Given the description of an element on the screen output the (x, y) to click on. 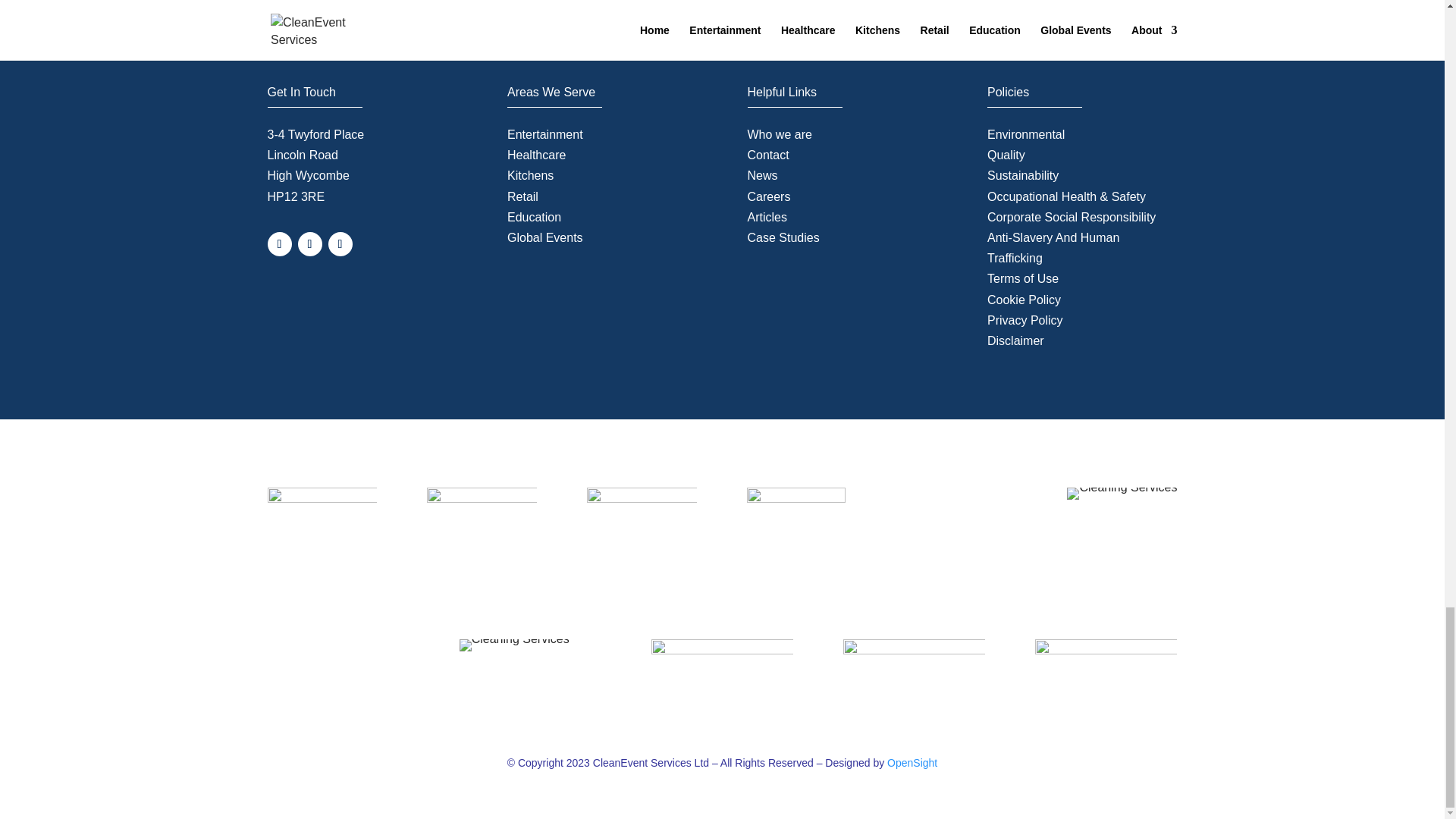
Sustainability School Membera (1121, 493)
BASIS (321, 502)
Quality (1006, 154)
Living wage employer (795, 519)
Retail (522, 196)
Environmental (1025, 133)
Who we are (780, 133)
Follow on Facebook (278, 243)
ISO9001 (514, 645)
Case Studies (783, 237)
ISO45001 (914, 668)
Cleaning Services by CleanEvent (321, 30)
Articles (767, 216)
Follow on Twitter (309, 243)
Kitchens (529, 174)
